Given the description of an element on the screen output the (x, y) to click on. 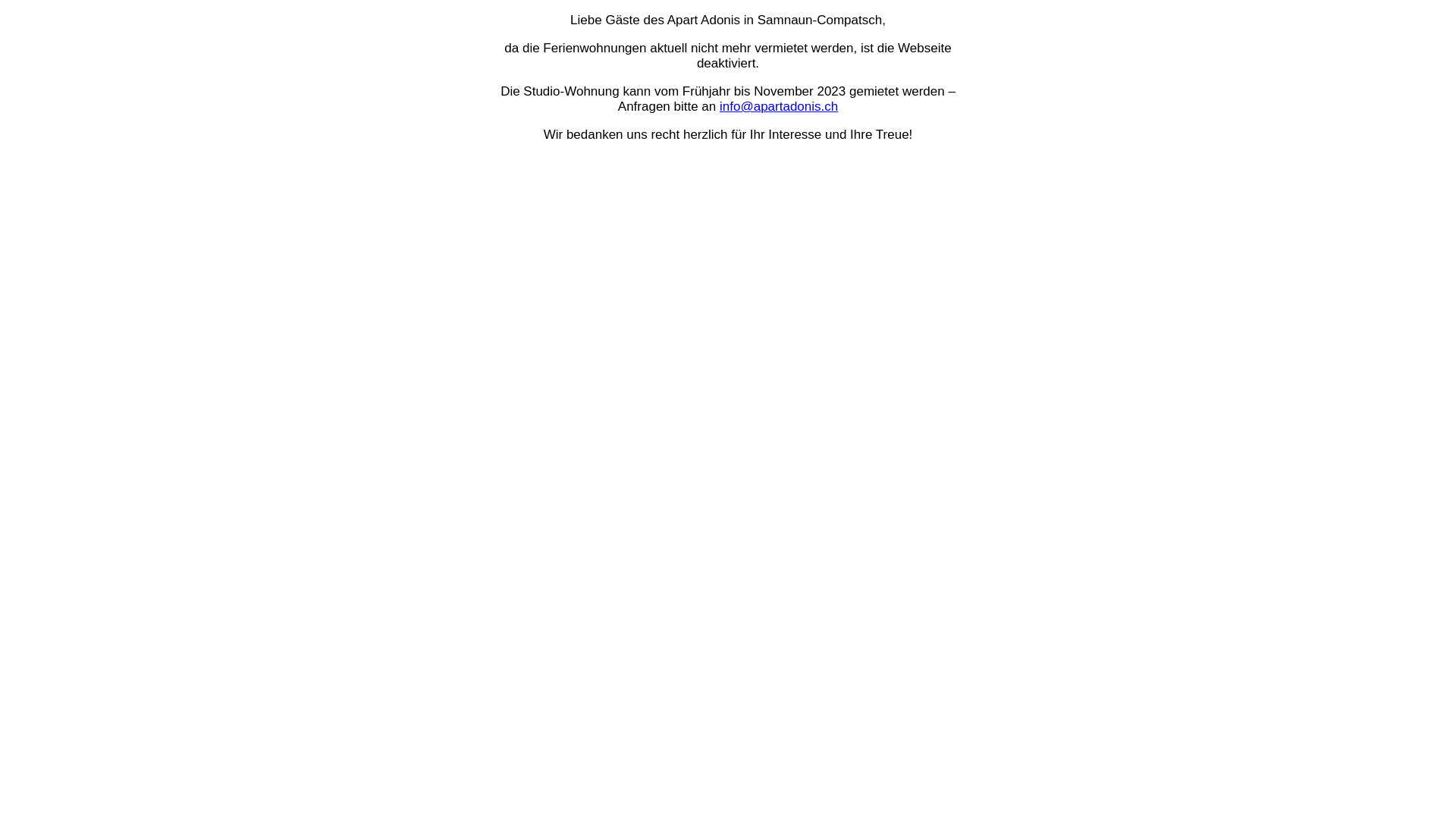
info@apartadonis.ch Element type: text (778, 106)
